Given the description of an element on the screen output the (x, y) to click on. 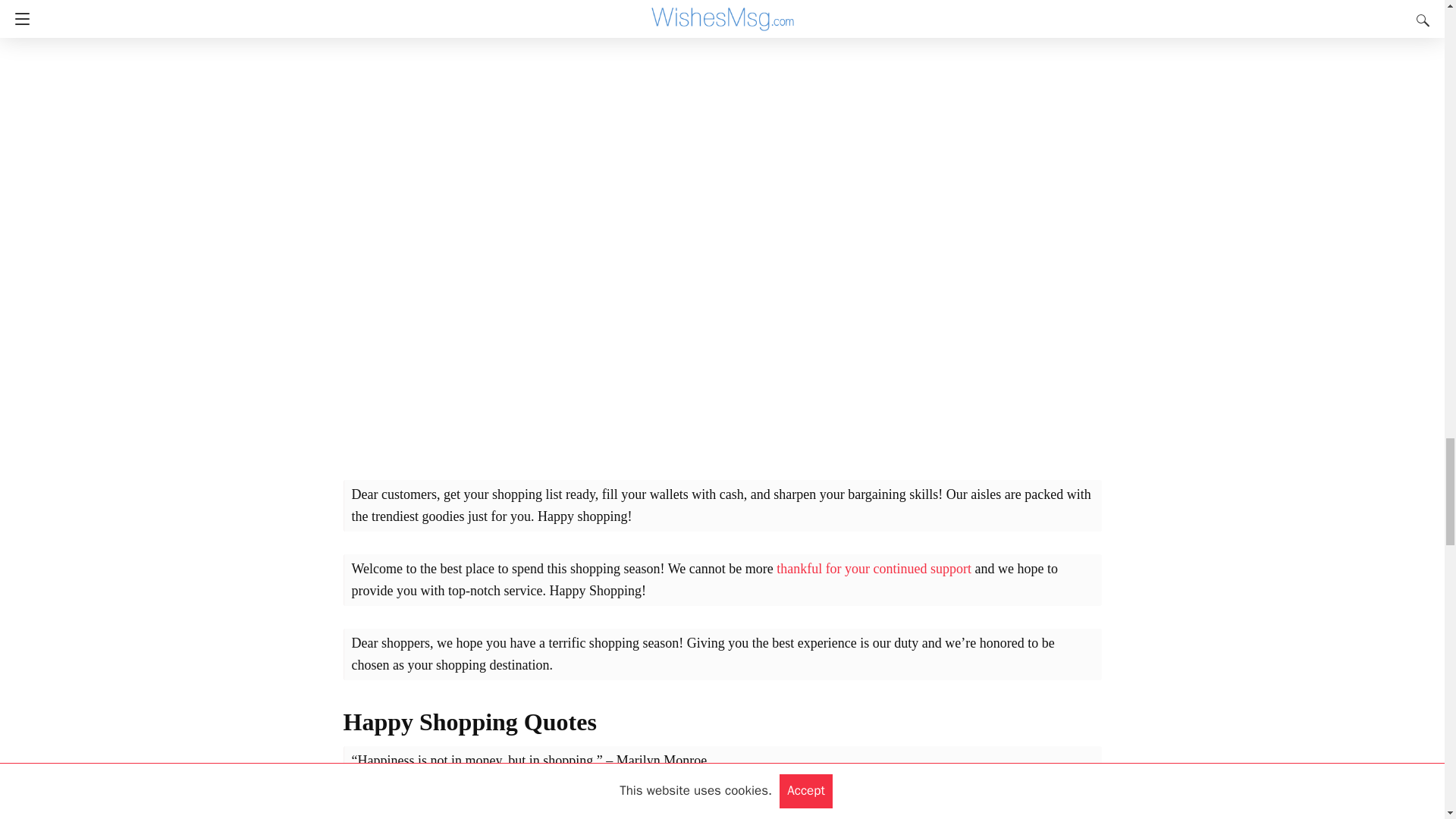
thankful for your continued support (873, 568)
